Given the description of an element on the screen output the (x, y) to click on. 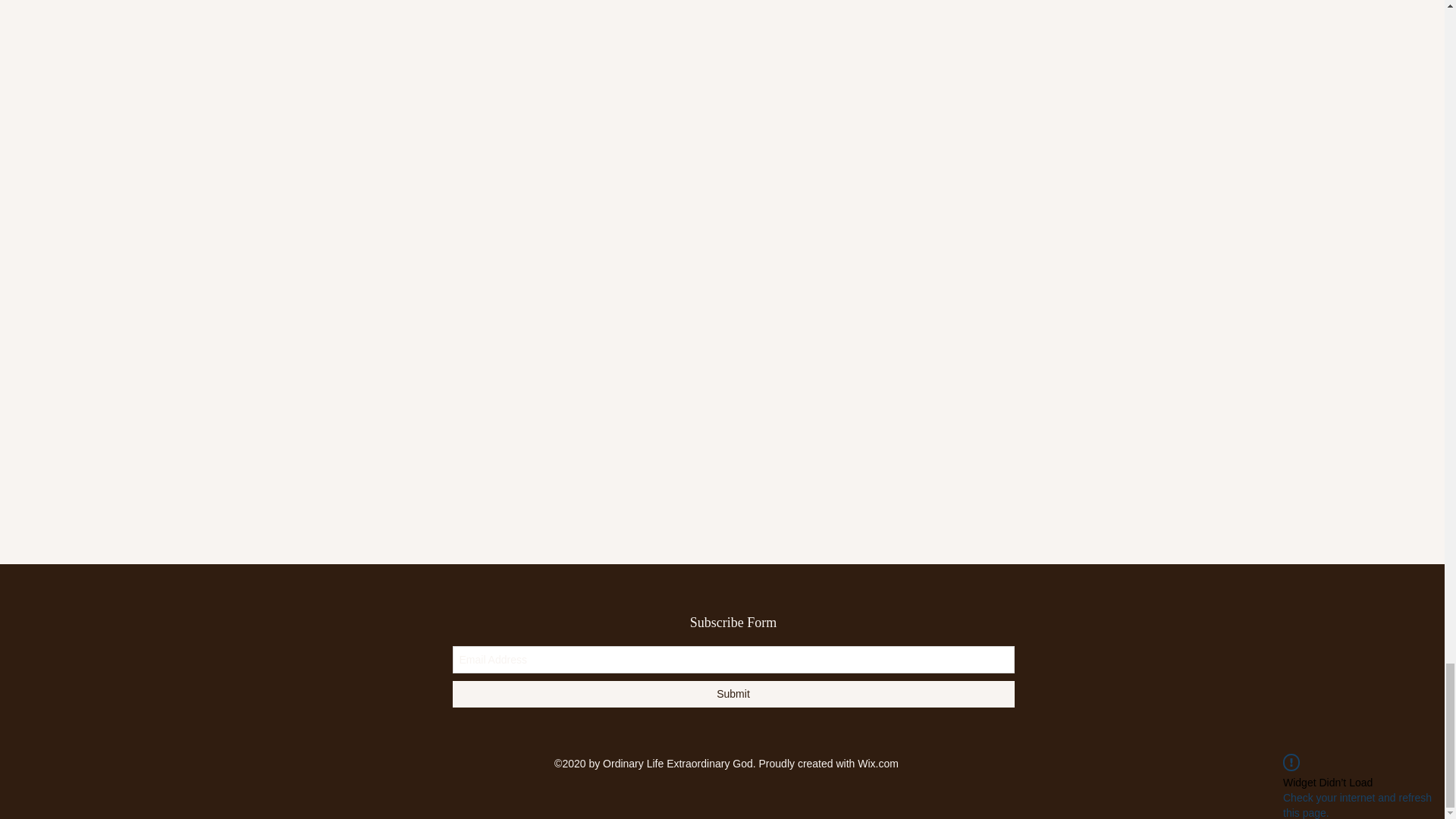
Submit (732, 693)
